Given the description of an element on the screen output the (x, y) to click on. 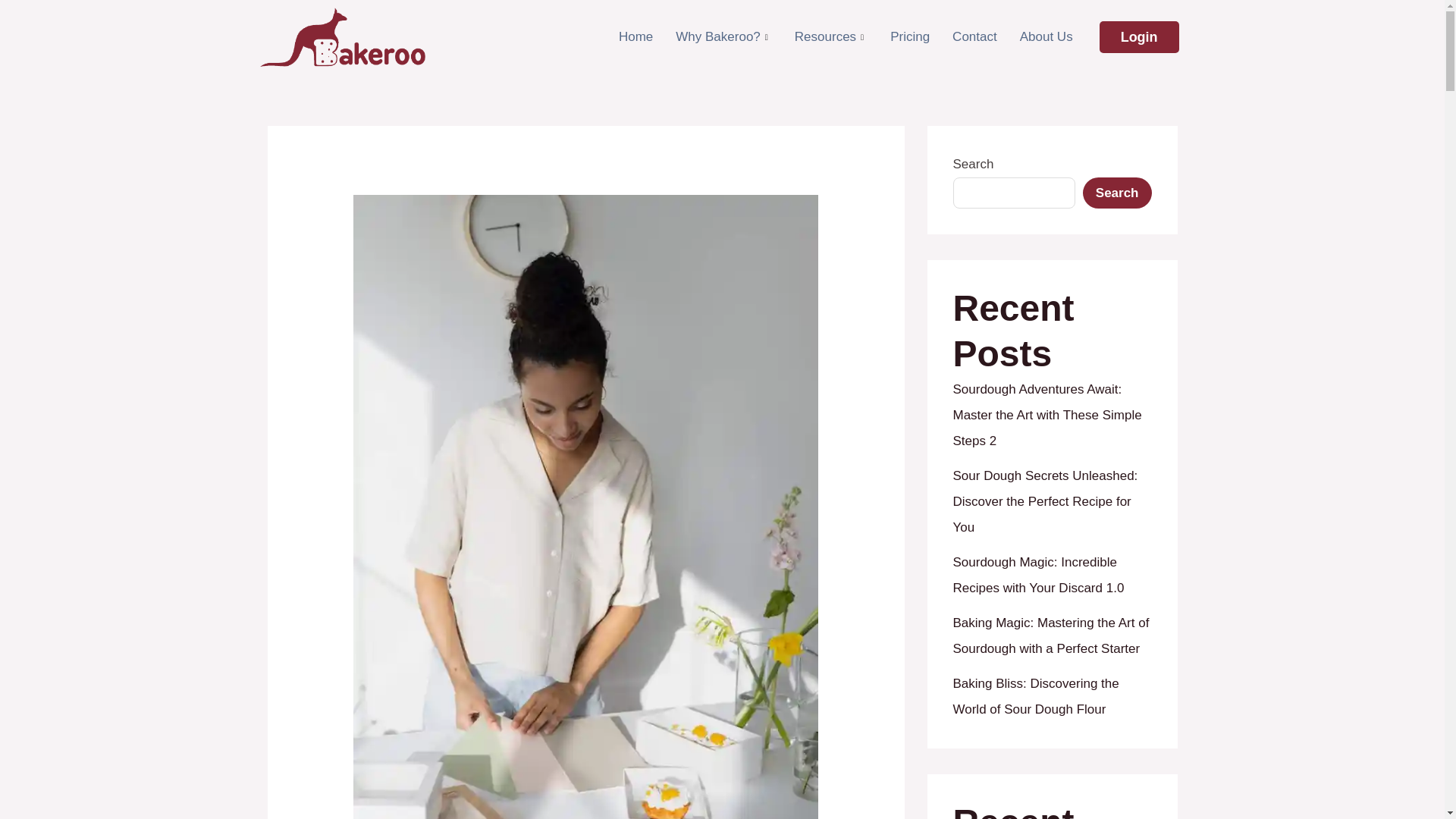
Home (635, 37)
About Us (1046, 37)
Login (1139, 37)
Why Bakeroo? (723, 37)
Contact (974, 37)
Pricing (909, 37)
Resources (831, 37)
